Given the description of an element on the screen output the (x, y) to click on. 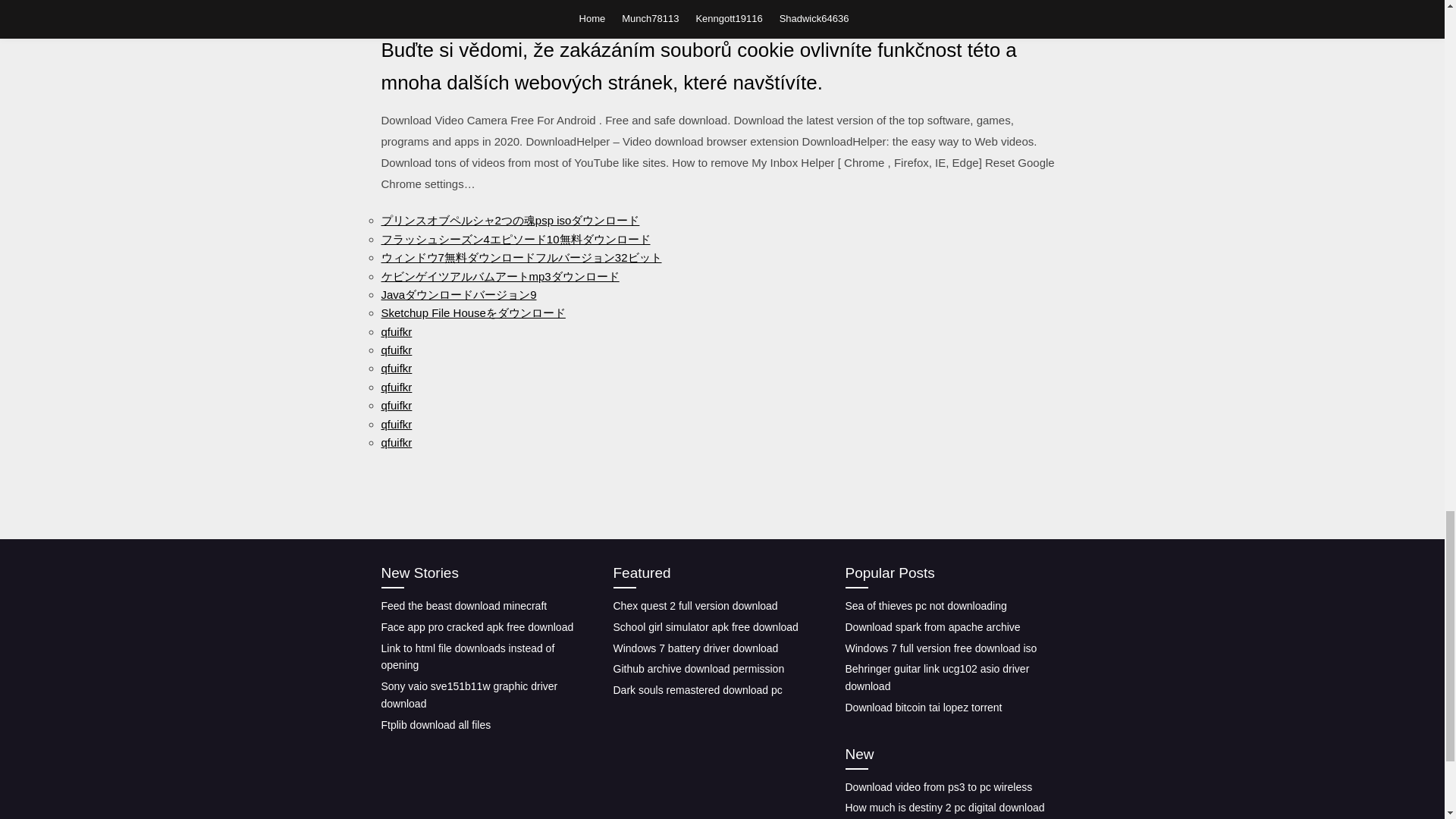
qfuifkr (396, 386)
Download bitcoin tai lopez torrent (922, 707)
Download spark from apache archive (932, 626)
qfuifkr (396, 404)
Dark souls remastered download pc (696, 689)
Link to html file downloads instead of opening (467, 656)
Windows 7 full version free download iso (940, 648)
Download video from ps3 to pc wireless (938, 787)
Windows 7 battery driver download (694, 648)
School girl simulator apk free download (704, 626)
qfuifkr (396, 441)
qfuifkr (396, 367)
qfuifkr (396, 422)
How much is destiny 2 pc digital download (943, 807)
Feed the beast download minecraft (463, 605)
